Given the description of an element on the screen output the (x, y) to click on. 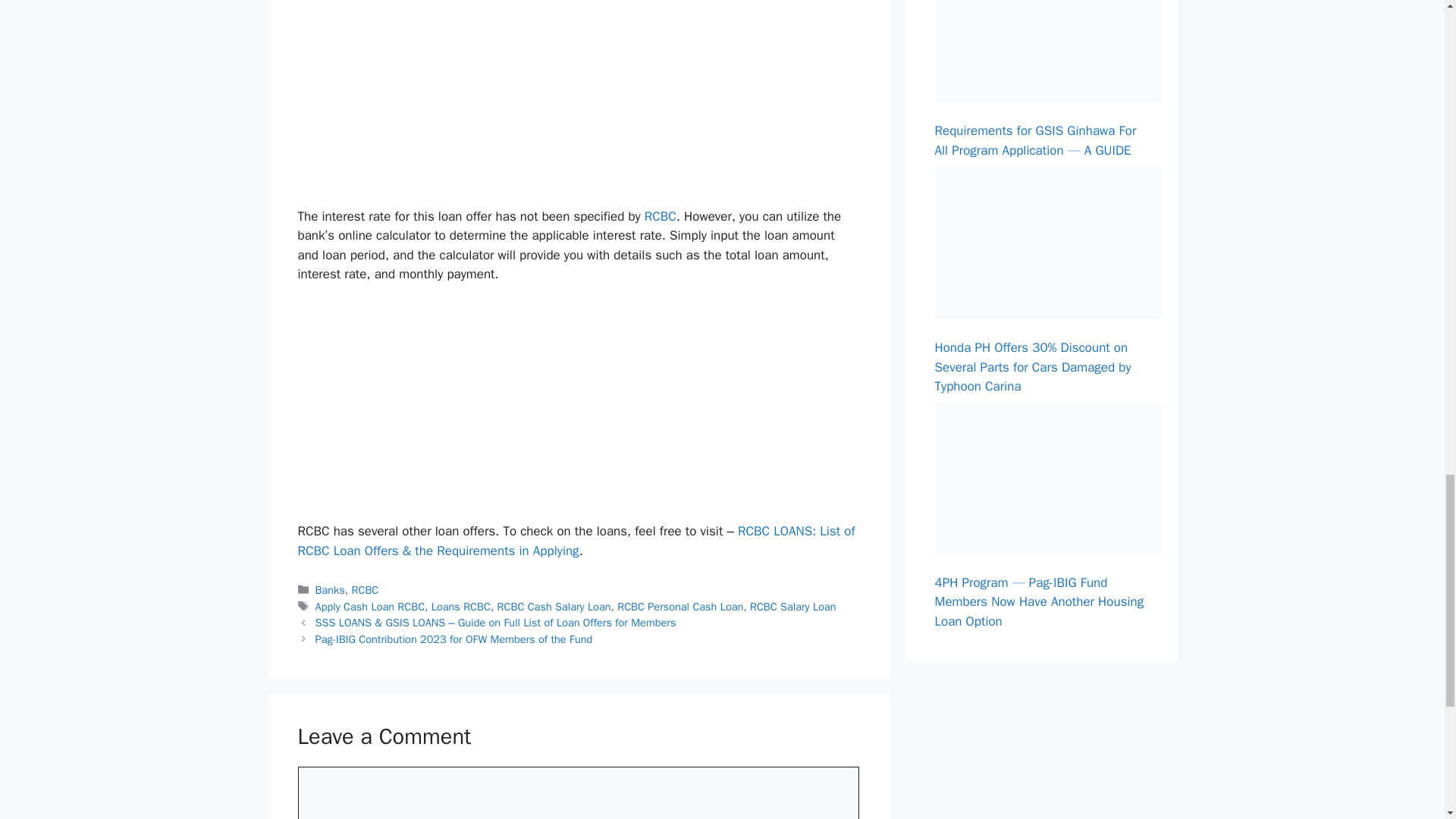
Loans RCBC (460, 606)
Apply Cash Loan RCBC (370, 606)
RCBC Salary Loan (792, 606)
RCBC Personal Cash Loan (679, 606)
RCBC Cash Salary Loan (554, 606)
Advertisement (585, 409)
RCBC (365, 590)
Advertisement (585, 99)
Banks (330, 590)
Pag-IBIG Contribution 2023 for OFW Members of the Fund (453, 639)
RCBC (661, 215)
